Given the description of an element on the screen output the (x, y) to click on. 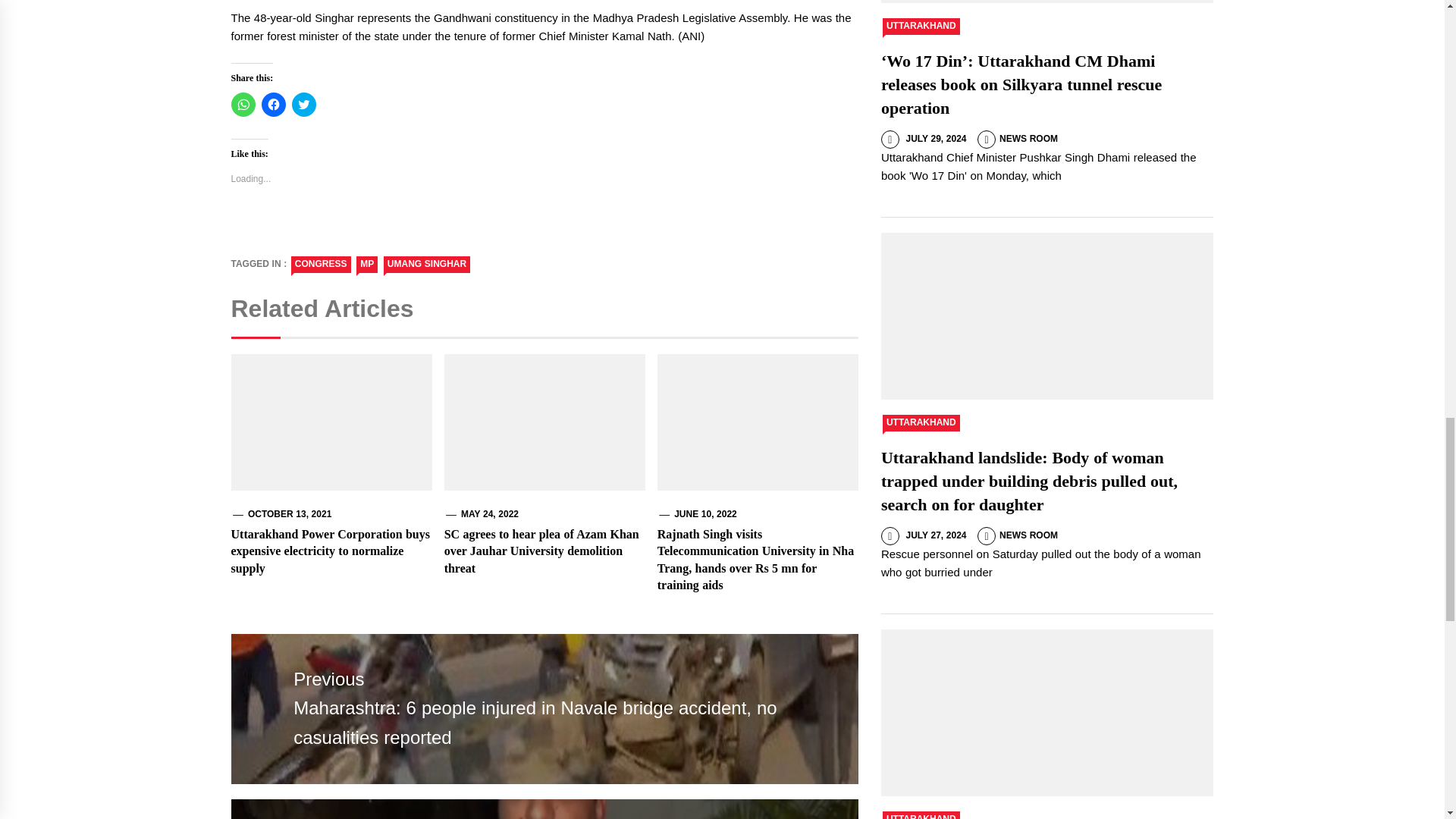
MP (366, 264)
OCTOBER 13, 2021 (289, 513)
CONGRESS (320, 264)
Click to share on WhatsApp (242, 104)
Click to share on Twitter (303, 104)
UMANG SINGHAR (427, 264)
Click to share on Facebook (272, 104)
Like or Reblog (543, 231)
